Given the description of an element on the screen output the (x, y) to click on. 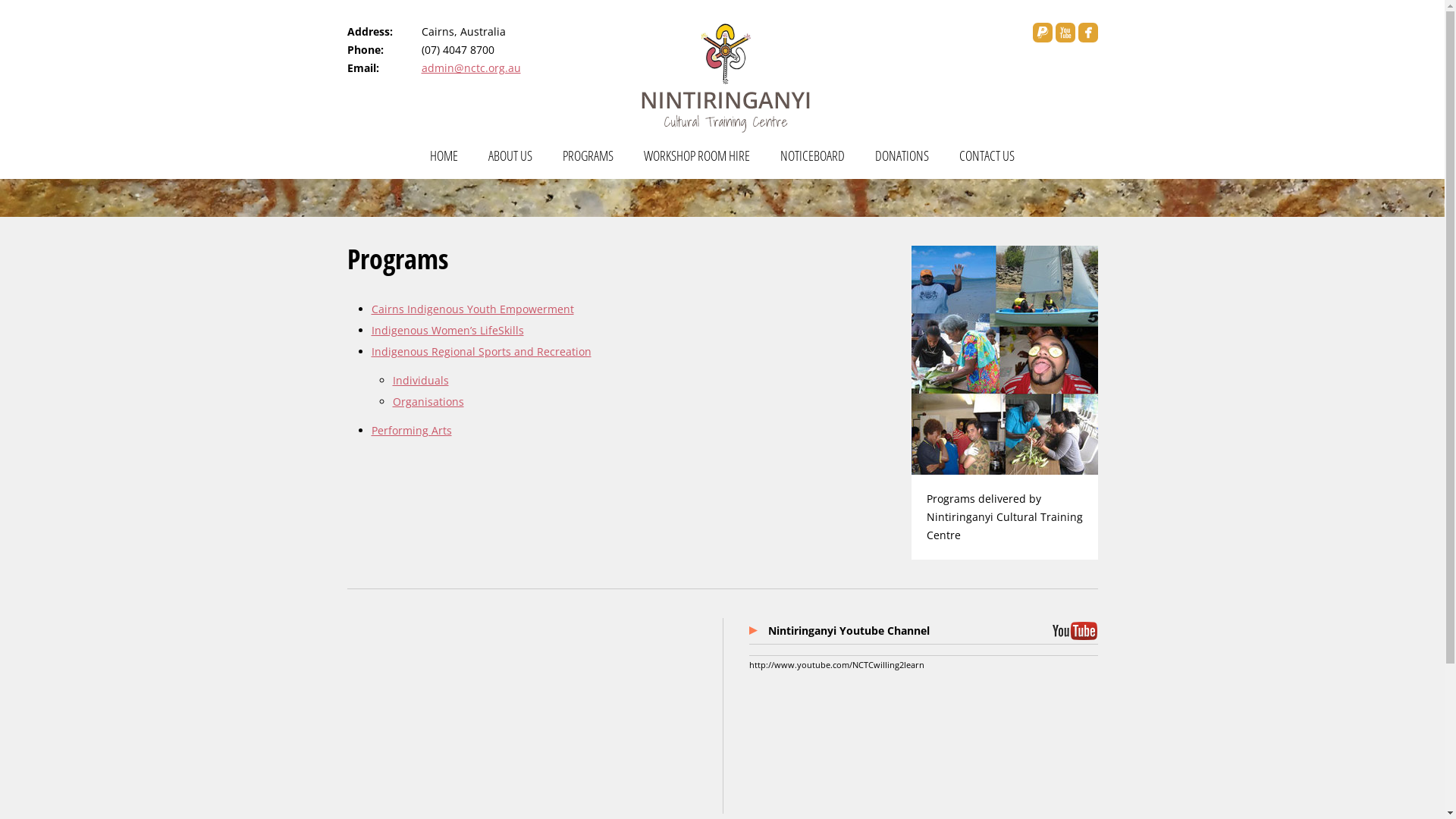
CONTACT US Element type: text (986, 161)
HOME Element type: text (443, 161)
admin@nctc.org.au Element type: text (470, 67)
Cairns Indigenous Youth Empowerment Element type: text (472, 308)
Individuals Element type: text (420, 380)
WORKSHOP ROOM HIRE Element type: text (696, 161)
Indigenous Regional Sports and Recreation Element type: text (481, 351)
Nintiringanyi Youtube Channel Element type: text (932, 630)
Performing Arts Element type: text (411, 430)
DONATIONS Element type: text (901, 161)
Organisations Element type: text (428, 401)
NOTICEBOARD Element type: text (812, 161)
ABOUT US Element type: text (510, 161)
http://www.youtube.com/NCTCwilling2learn Element type: text (836, 664)
PROGRAMS Element type: text (587, 161)
